Given the description of an element on the screen output the (x, y) to click on. 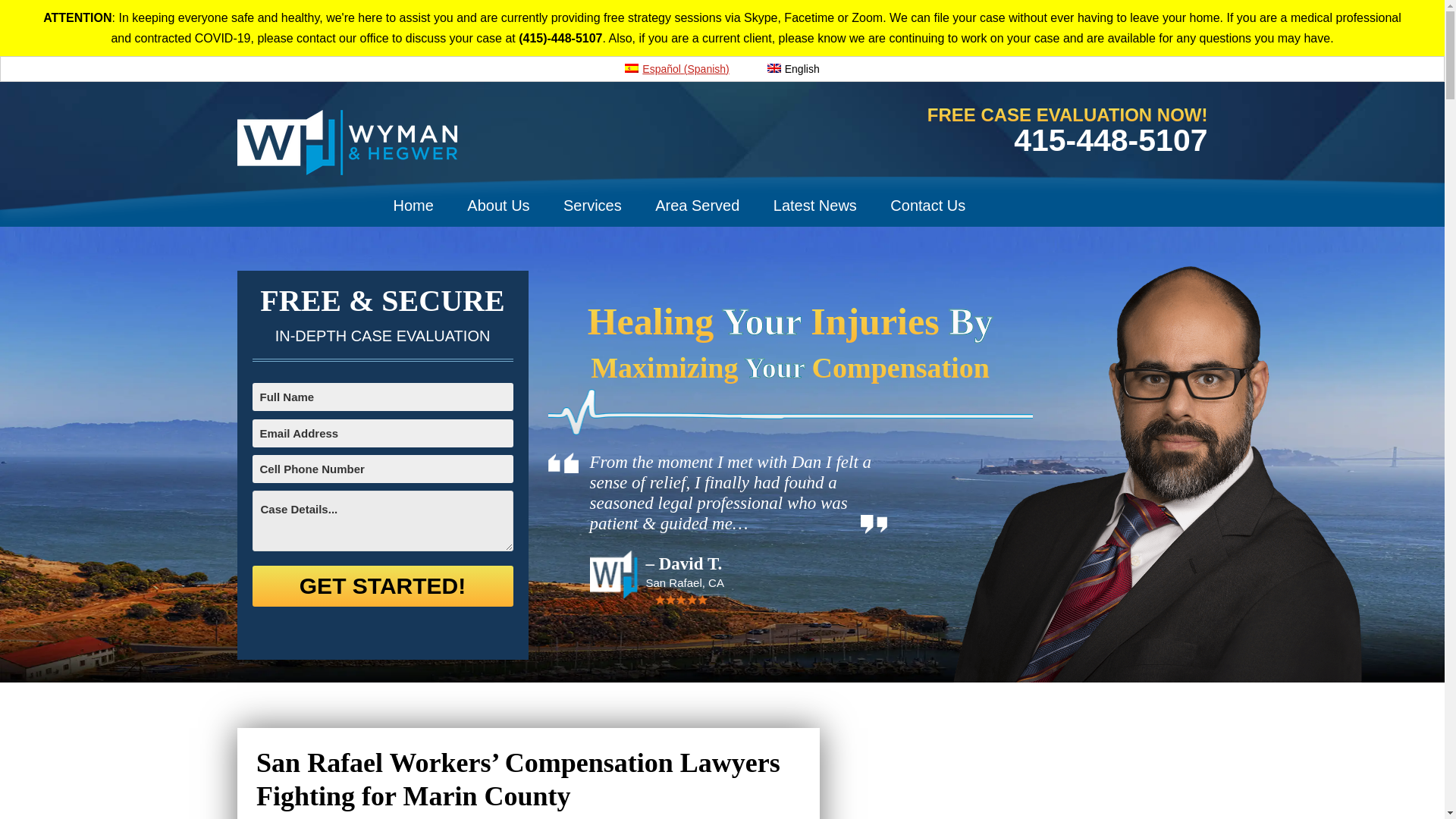
About Us (497, 201)
Home (412, 201)
Get Started! (381, 585)
Area Served (697, 201)
Services (592, 201)
Latest News (815, 201)
415-448-5107 (1110, 140)
